Given the description of an element on the screen output the (x, y) to click on. 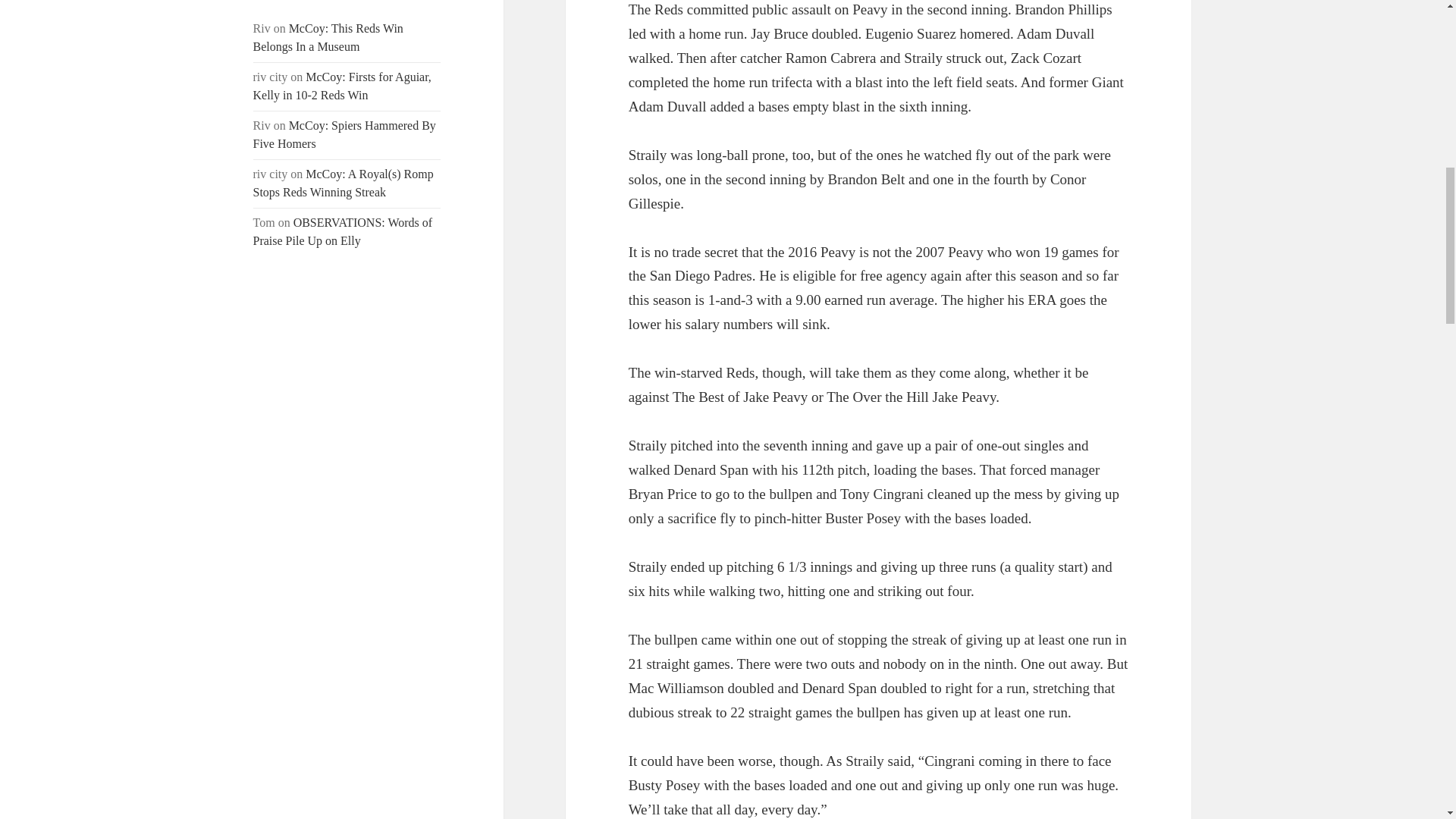
OBSERVATIONS: Words of Praise Pile Up on Elly (342, 231)
McCoy: This Reds Win Belongs In a Museum (328, 37)
McCoy: Spiers Hammered By Five Homers (344, 133)
McCoy: Firsts for Aguiar, Kelly in 10-2 Reds Win (341, 85)
